Given the description of an element on the screen output the (x, y) to click on. 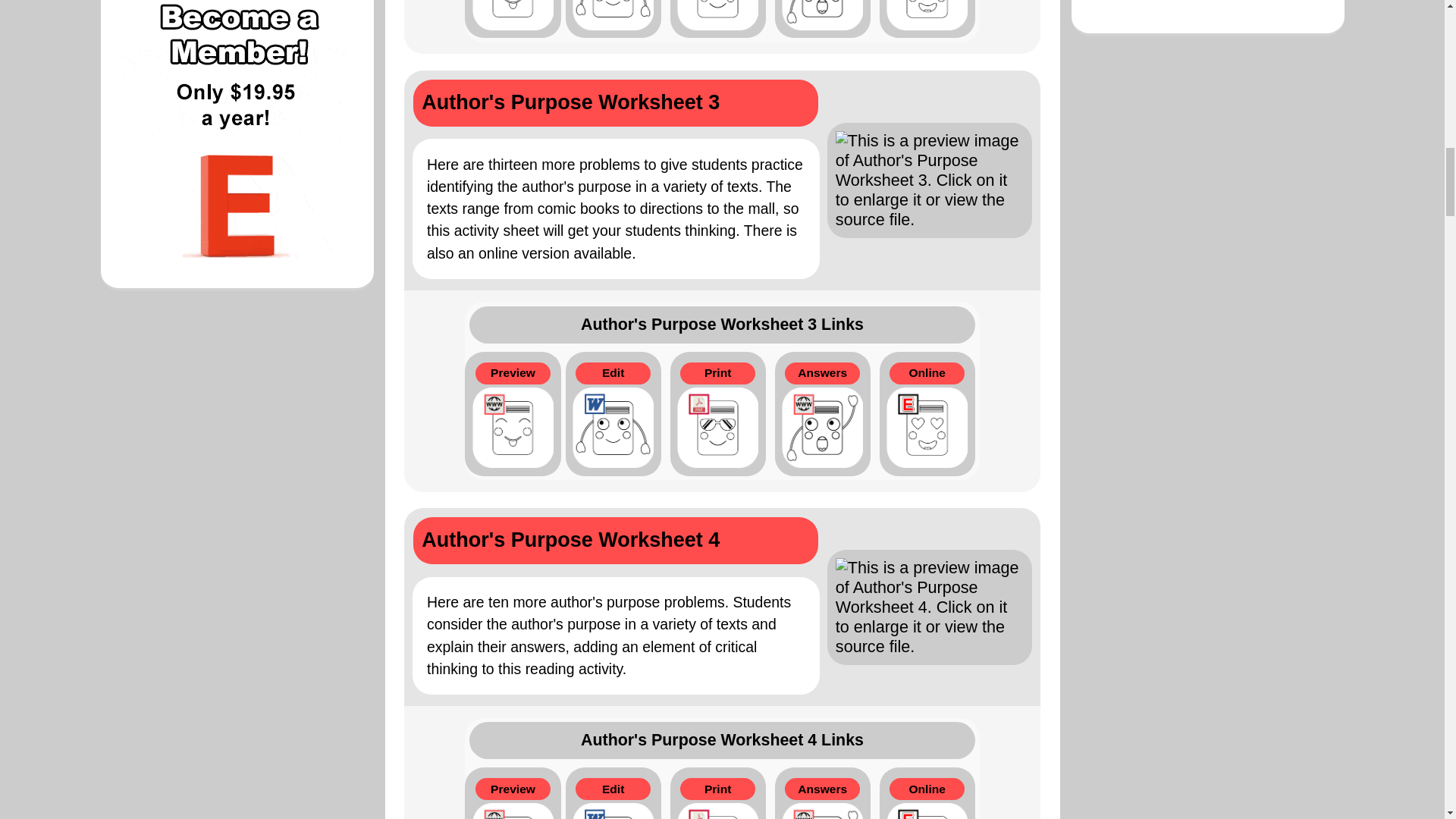
Preview (512, 21)
BECOME A MEMBER! (236, 153)
Author's Purpose Worksheet 4 (722, 606)
Edit (612, 21)
Print (717, 21)
